Given the description of an element on the screen output the (x, y) to click on. 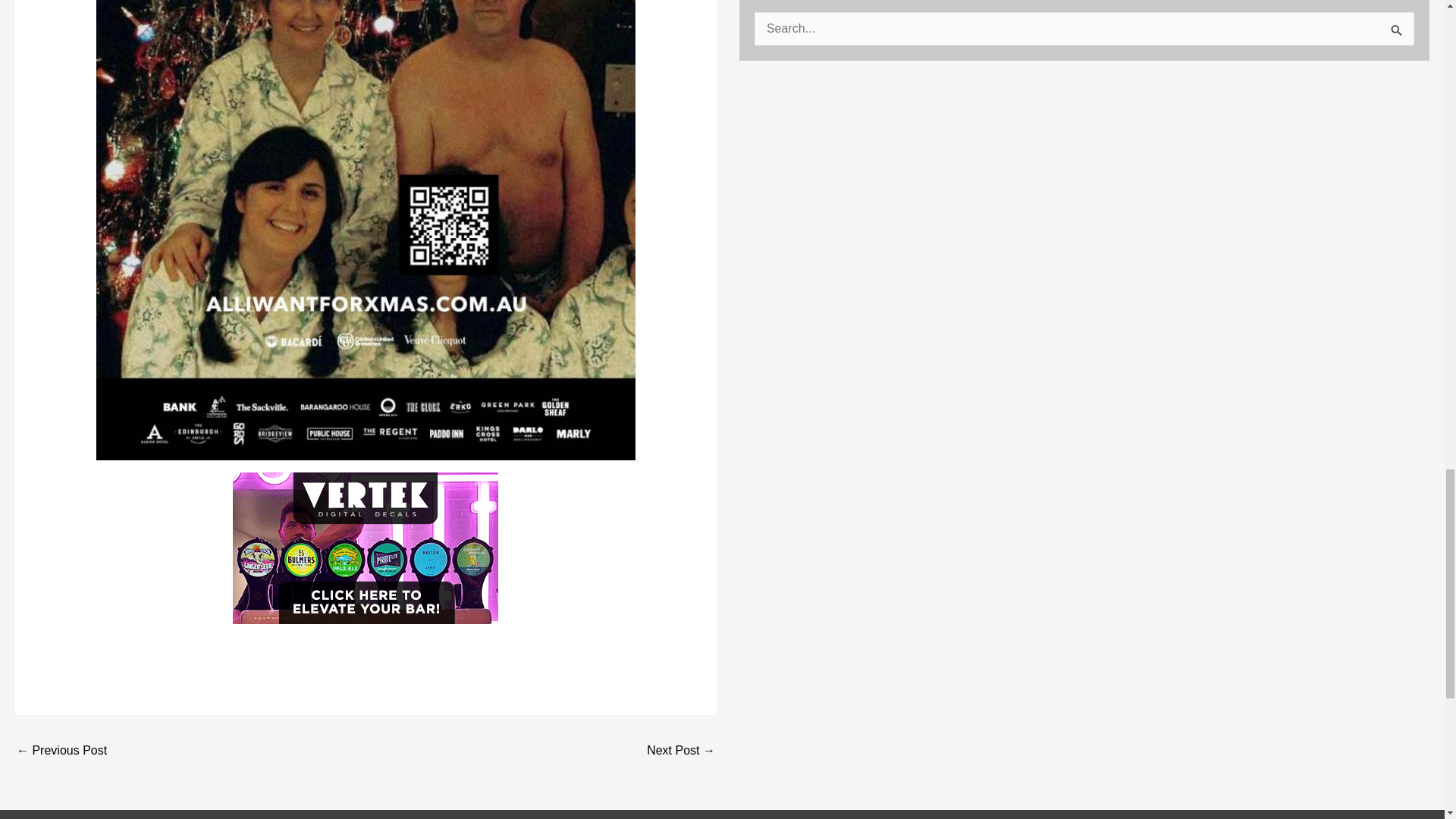
BULL AND BARLEY ON THE TABLE (680, 750)
UK CLOSES AGAIN: ONE THIRD OF PUBS MAY NOT REOPEN (61, 750)
